Given the description of an element on the screen output the (x, y) to click on. 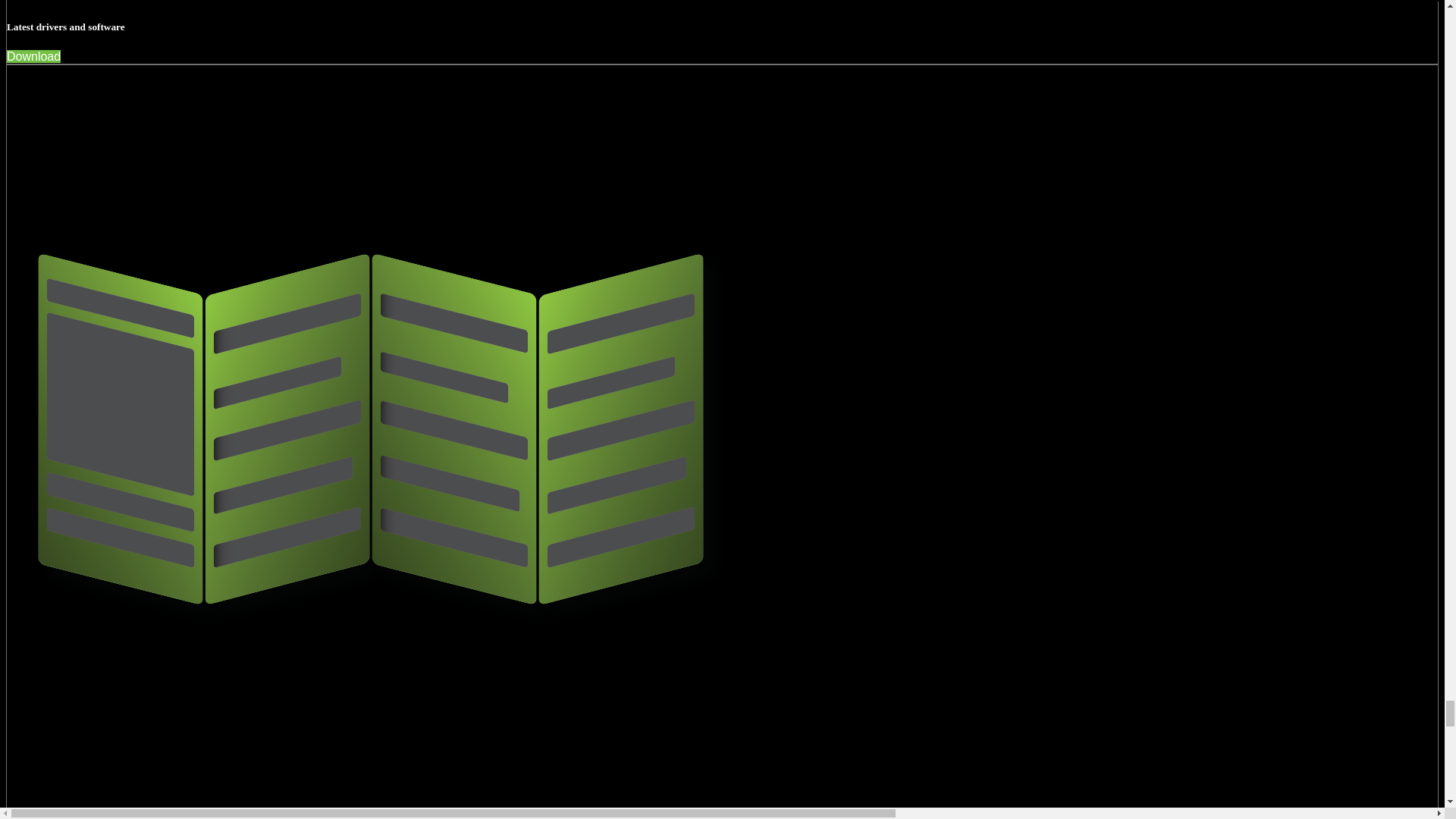
Download (34, 56)
